Given the description of an element on the screen output the (x, y) to click on. 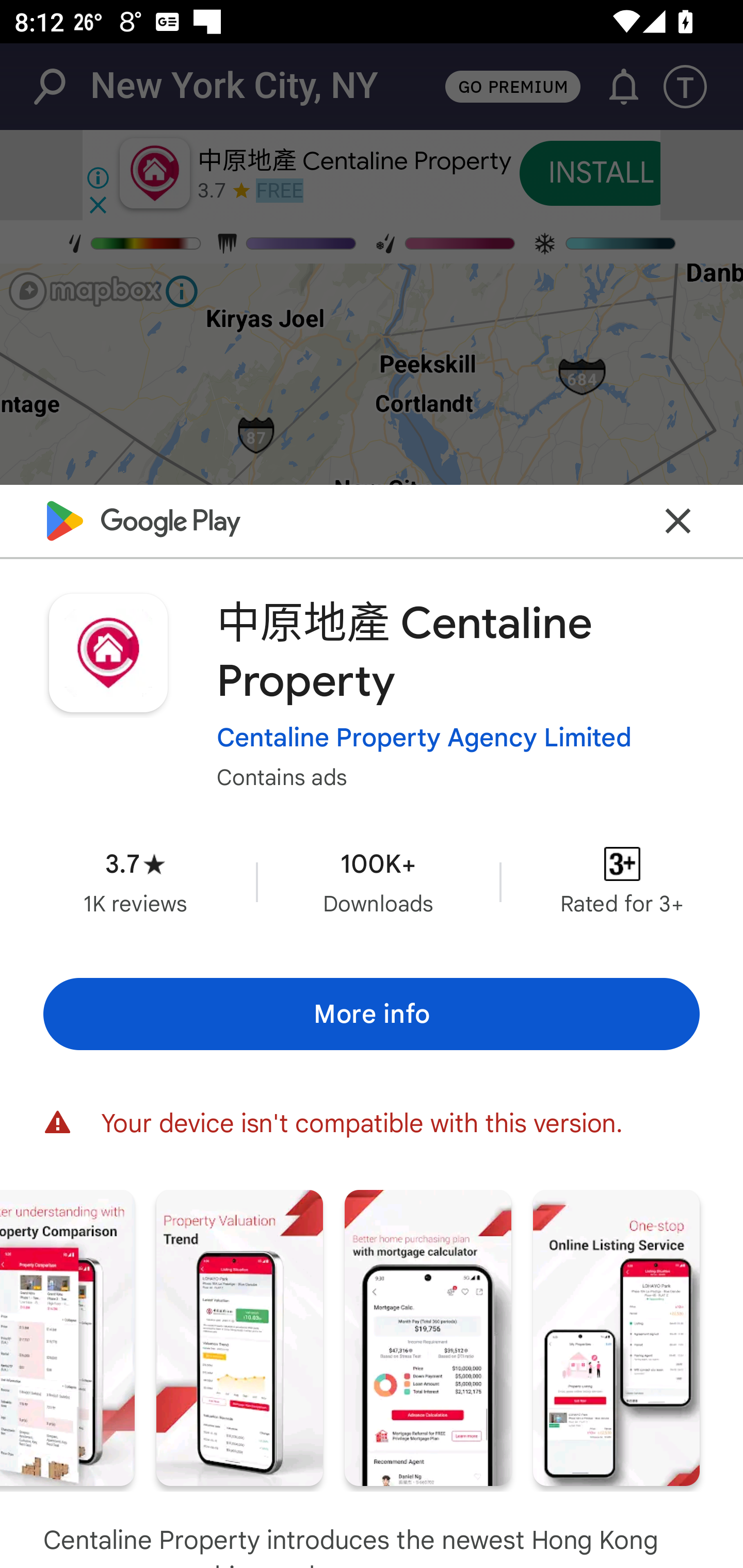
Close (677, 520)
Centaline Property Agency Limited (423, 737)
More info (371, 1014)
Screenshot "5" of "8" (67, 1338)
Screenshot "6" of "8" (239, 1338)
Screenshot "7" of "8" (427, 1338)
Screenshot "8" of "8" (615, 1338)
